Given the description of an element on the screen output the (x, y) to click on. 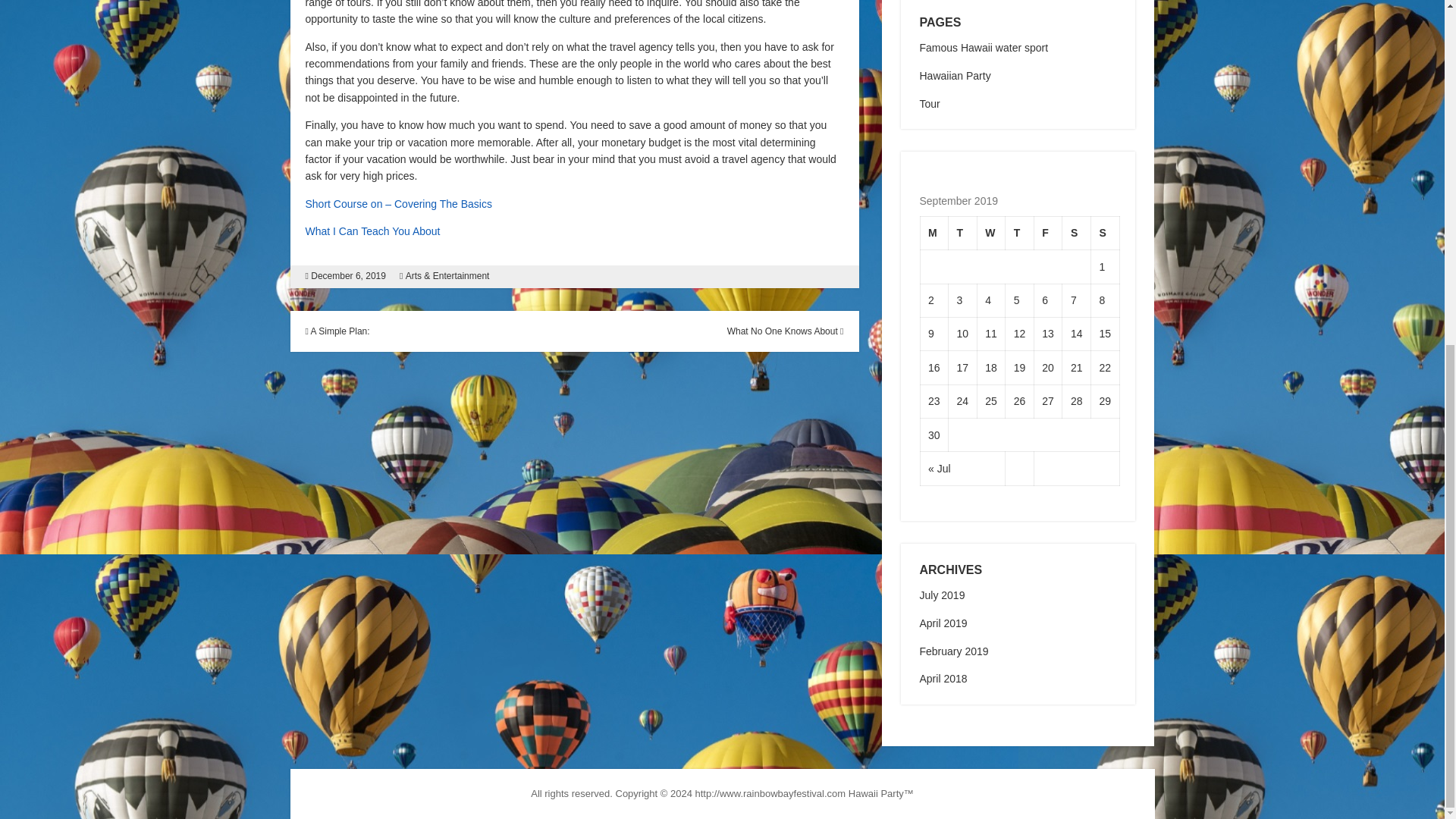
April 2019 (942, 623)
Tour (928, 103)
A Simple Plan: (336, 330)
February 2019 (953, 651)
What No One Knows About (785, 330)
Hawaii Party (876, 793)
December 6, 2019 (348, 276)
July 2019 (940, 594)
Famous Hawaii water sport (983, 47)
Hawaiian Party (954, 75)
What I Can Teach You About (371, 231)
April 2018 (942, 678)
